Given the description of an element on the screen output the (x, y) to click on. 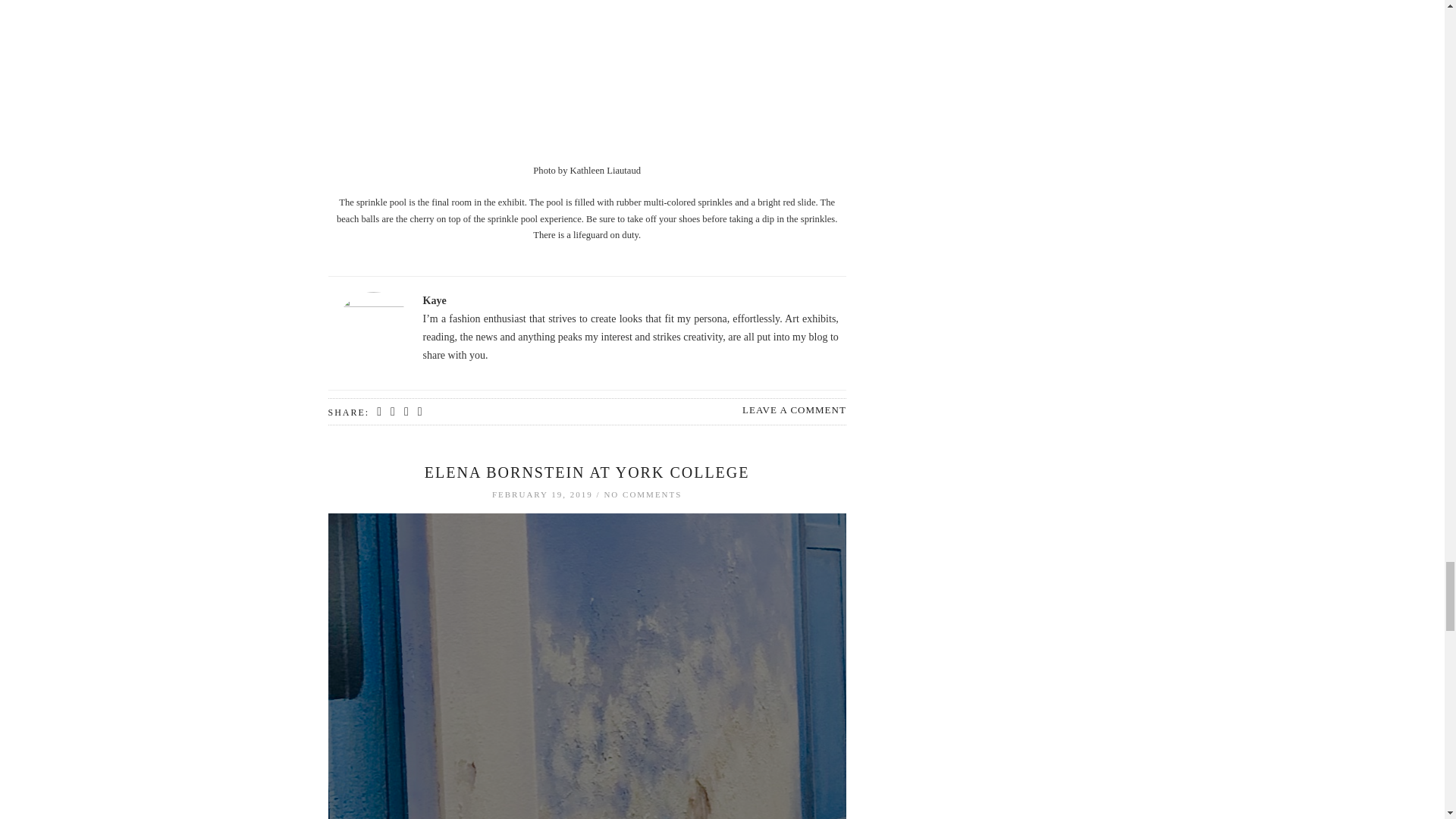
NO COMMENTS (642, 493)
LEAVE A COMMENT (793, 409)
ELENA BORNSTEIN AT YORK COLLEGE (587, 472)
